Given the description of an element on the screen output the (x, y) to click on. 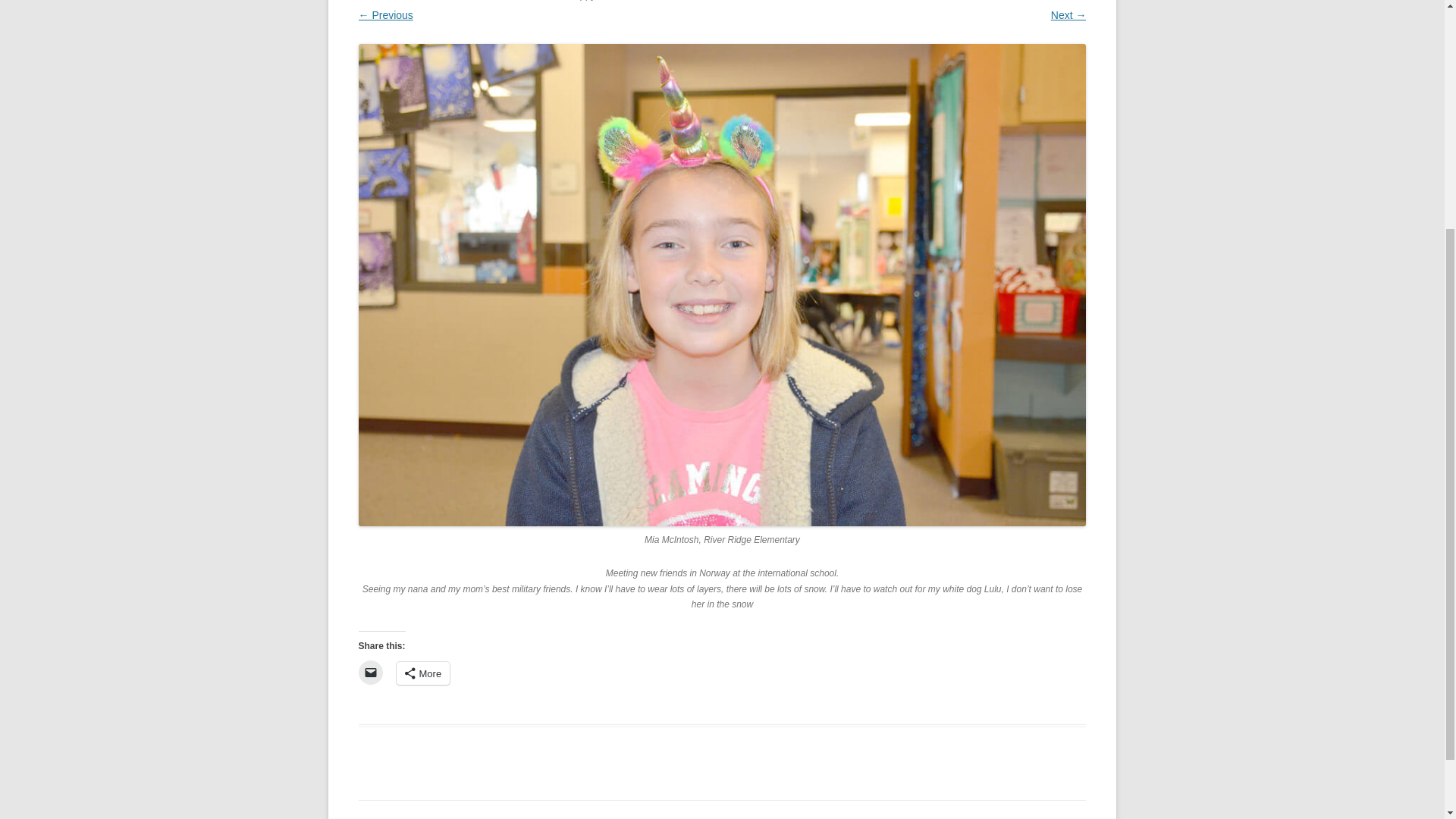
Link to full-size image (528, 0)
More (422, 672)
Happy New Year (603, 0)
Click to email a link to a friend (369, 672)
Go to Happy New Year (603, 0)
